Given the description of an element on the screen output the (x, y) to click on. 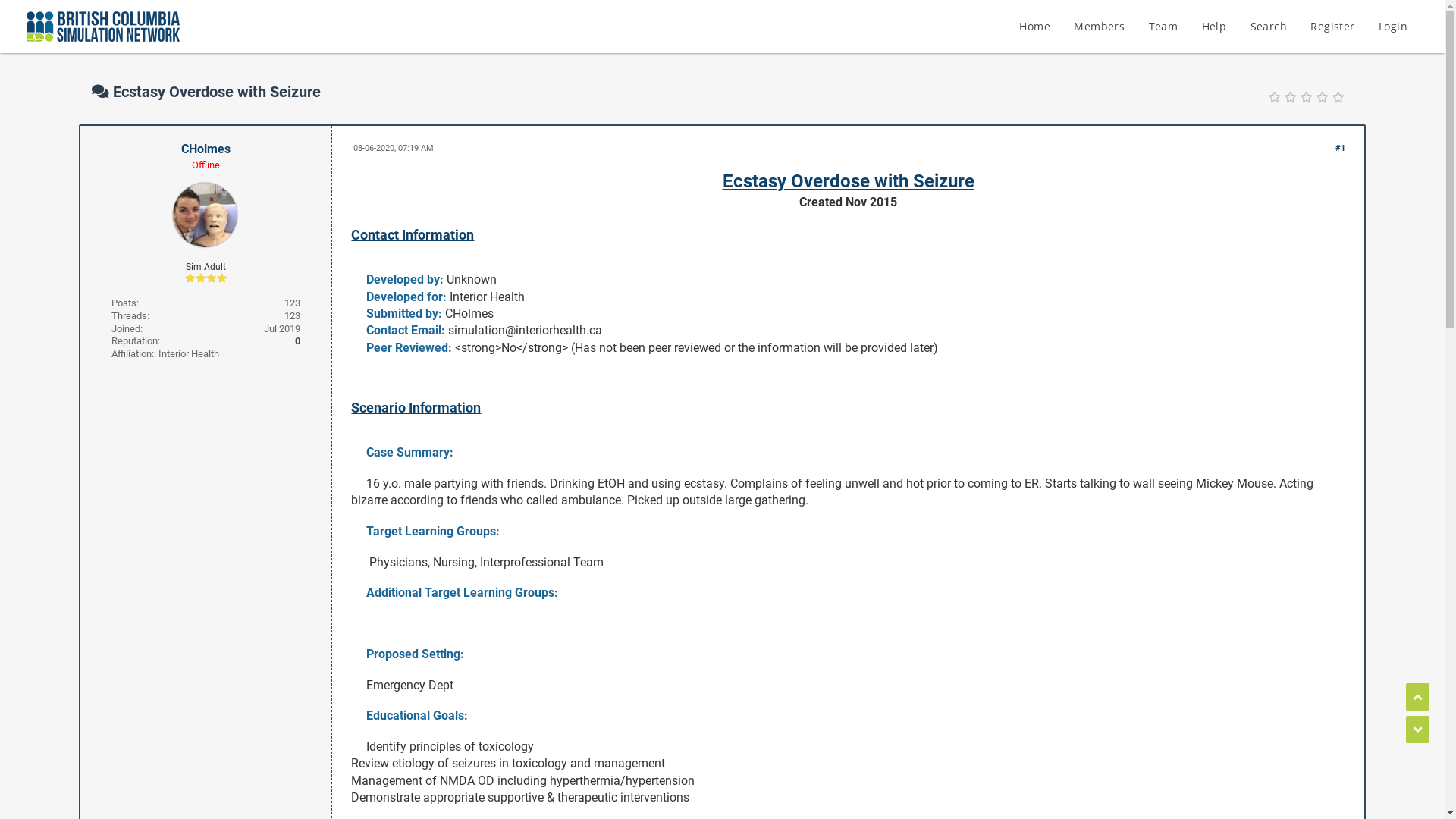
Members Element type: text (1099, 26)
Pediatrics Element type: text (450, 35)
BCSN Members Forum Element type: text (170, 35)
Simulation Scenario Repository Element type: text (327, 35)
Search Element type: text (1268, 26)
#1 Element type: text (1340, 148)
Login Element type: text (1393, 26)
Team Element type: text (1163, 26)
Toxicology Element type: text (520, 35)
CHolmes Element type: text (205, 148)
Help Element type: text (1214, 26)
Home Element type: text (1034, 26)
0 Element type: text (297, 340)
Register Element type: text (1332, 26)
